Given the description of an element on the screen output the (x, y) to click on. 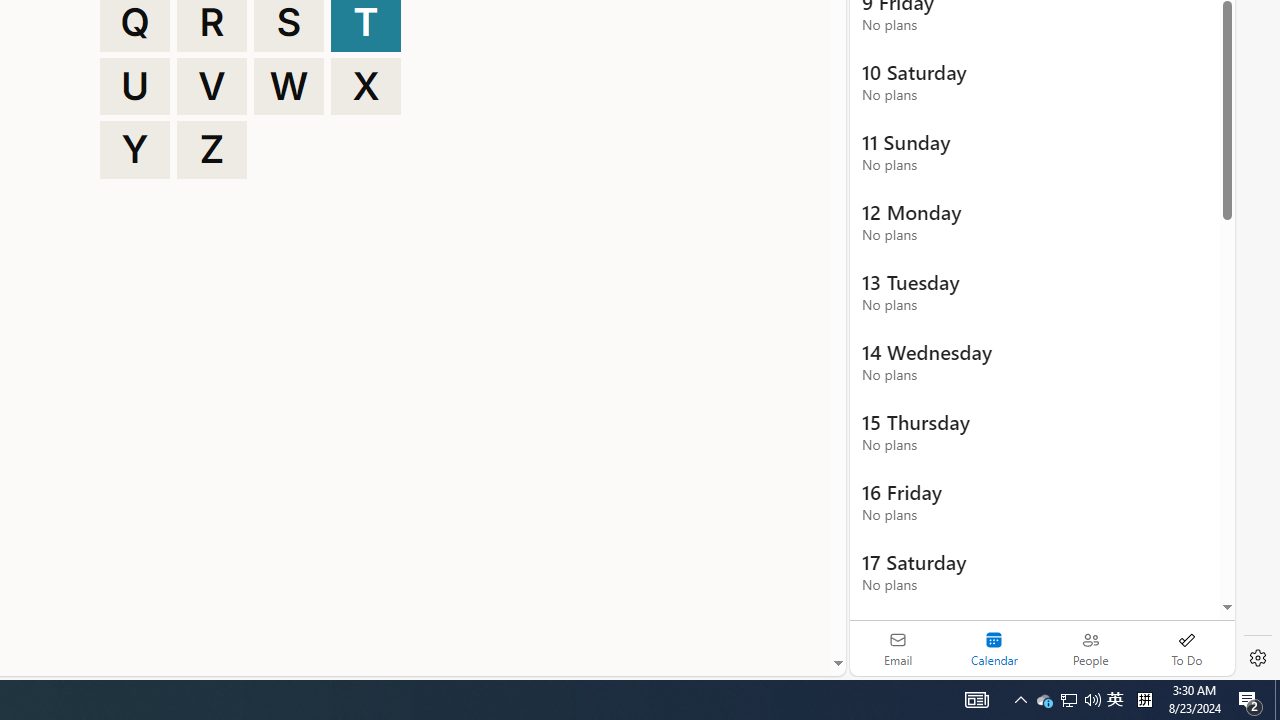
U (134, 85)
W (289, 85)
V (212, 85)
Z (212, 149)
V (212, 85)
